Given the description of an element on the screen output the (x, y) to click on. 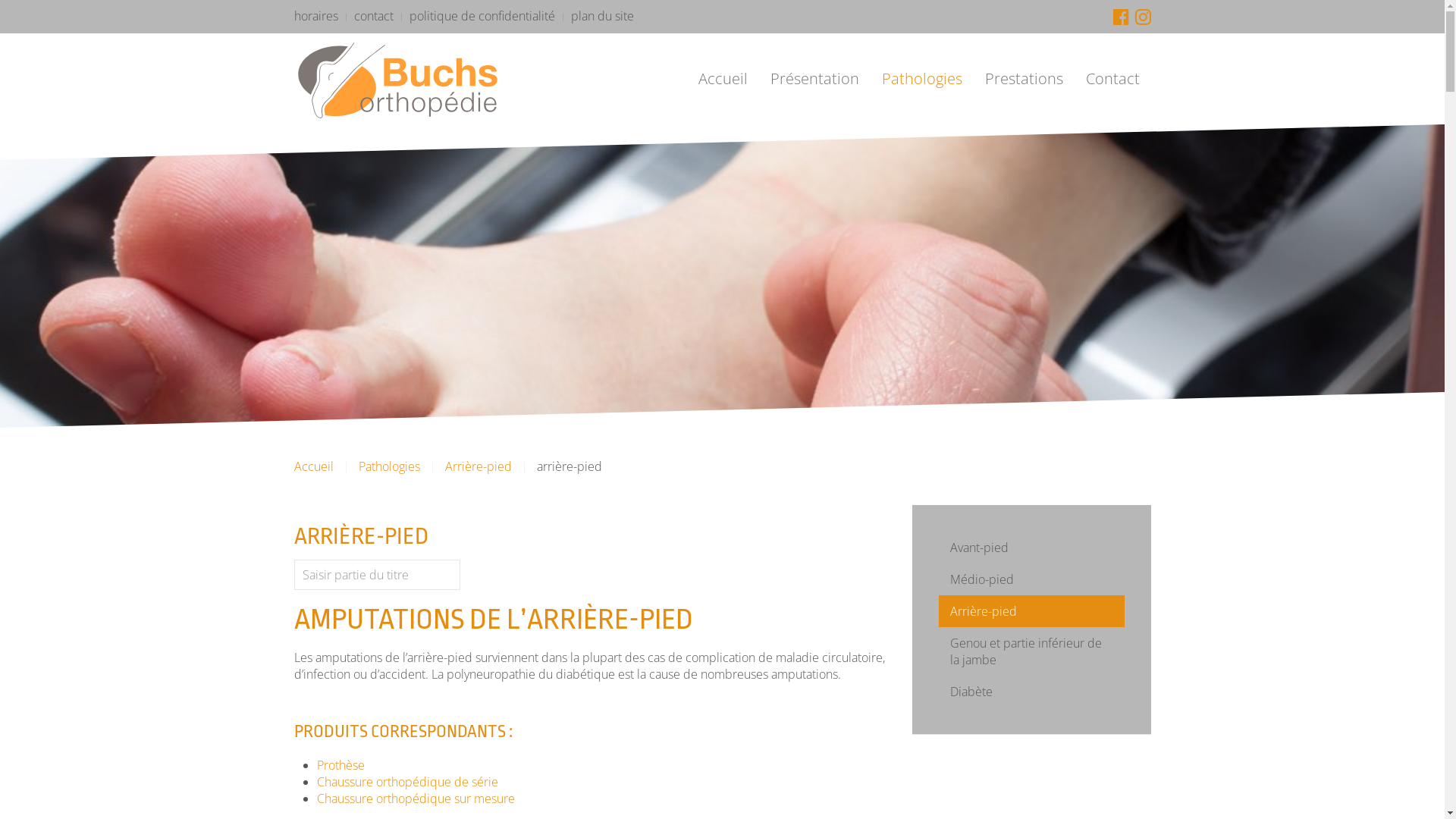
Pathologies Element type: text (388, 466)
Prestations Element type: text (1023, 78)
Contact Element type: text (1111, 78)
contact Element type: text (372, 15)
horaires Element type: text (316, 15)
Avant-pied Element type: text (1031, 547)
Pathologies Element type: text (921, 78)
plan du site Element type: text (601, 15)
Accueil Element type: text (723, 78)
Accueil Element type: text (313, 466)
